Given the description of an element on the screen output the (x, y) to click on. 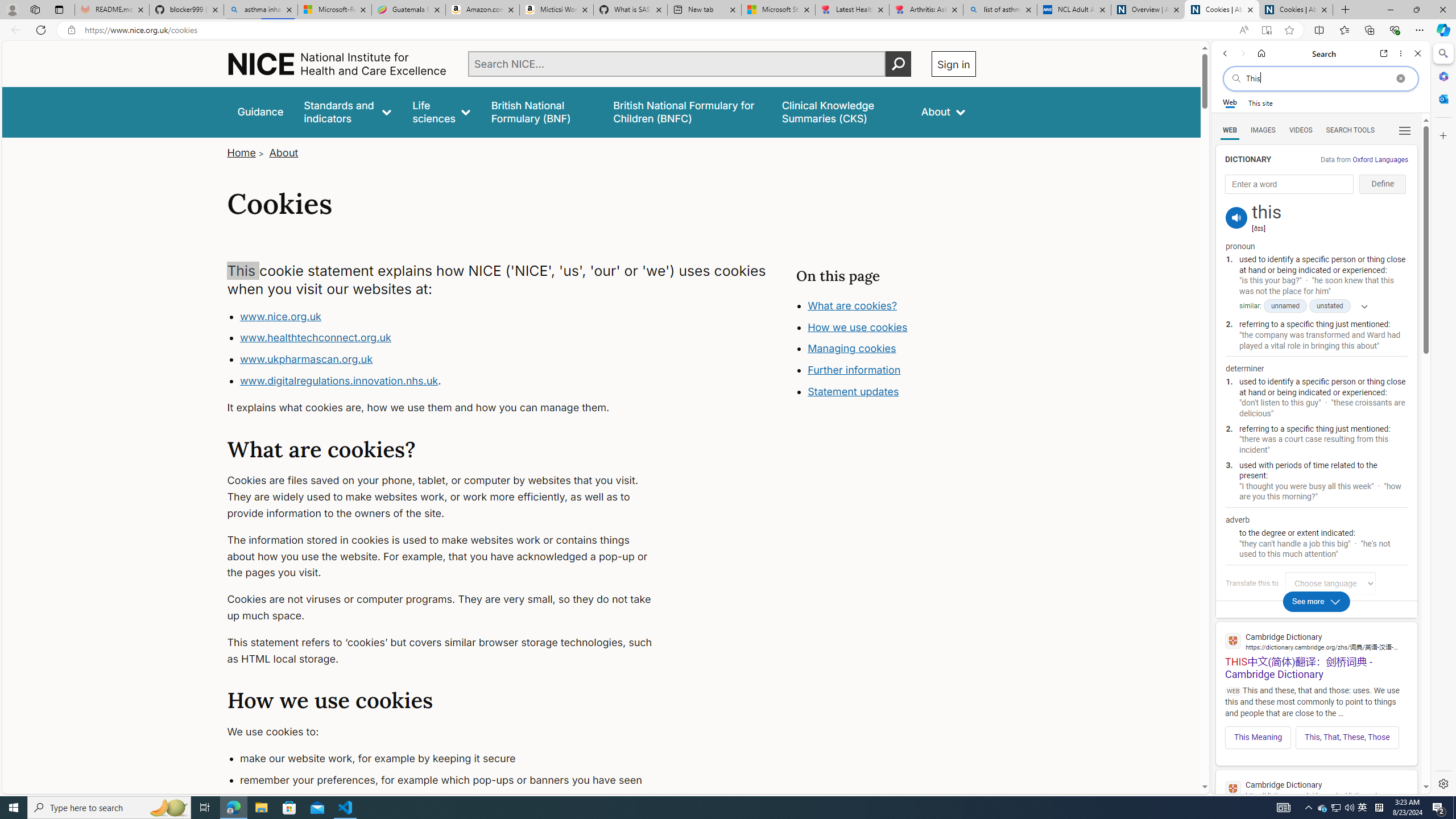
Perform search (898, 63)
